Given the description of an element on the screen output the (x, y) to click on. 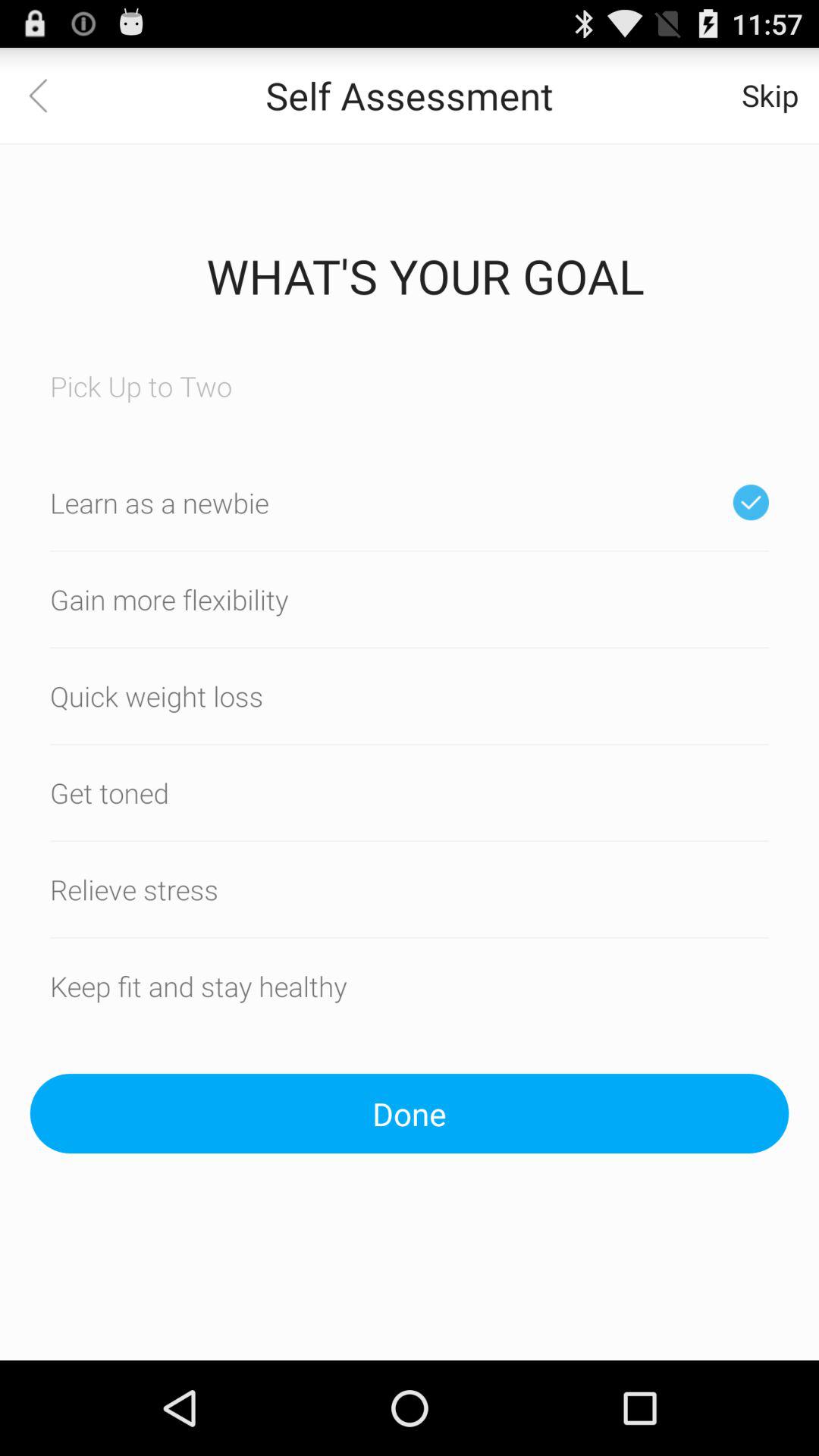
choose the icon at the top right corner (770, 95)
